Given the description of an element on the screen output the (x, y) to click on. 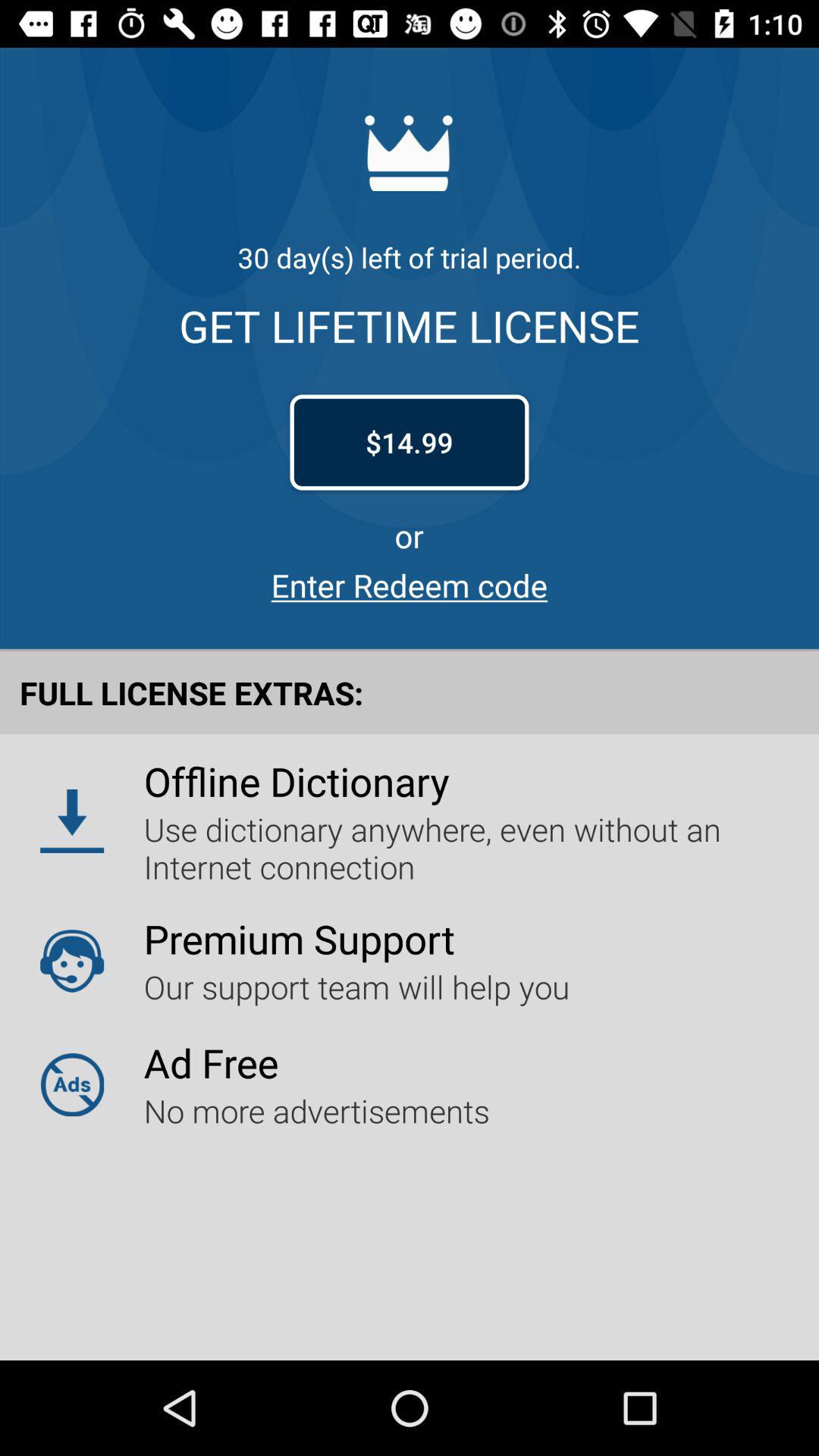
turn off app below the or (409, 584)
